Given the description of an element on the screen output the (x, y) to click on. 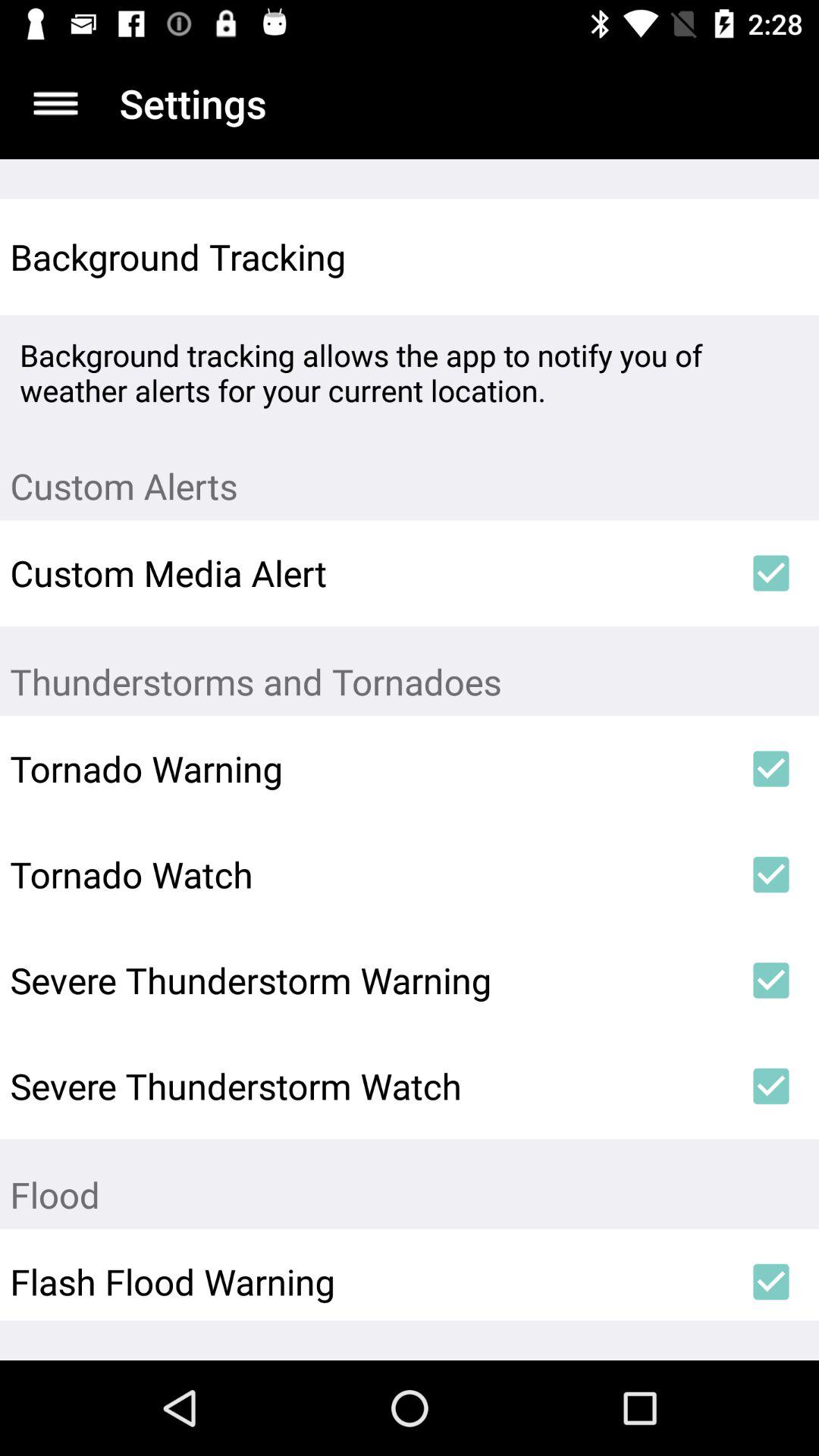
turn off icon above the flood (771, 1086)
